Given the description of an element on the screen output the (x, y) to click on. 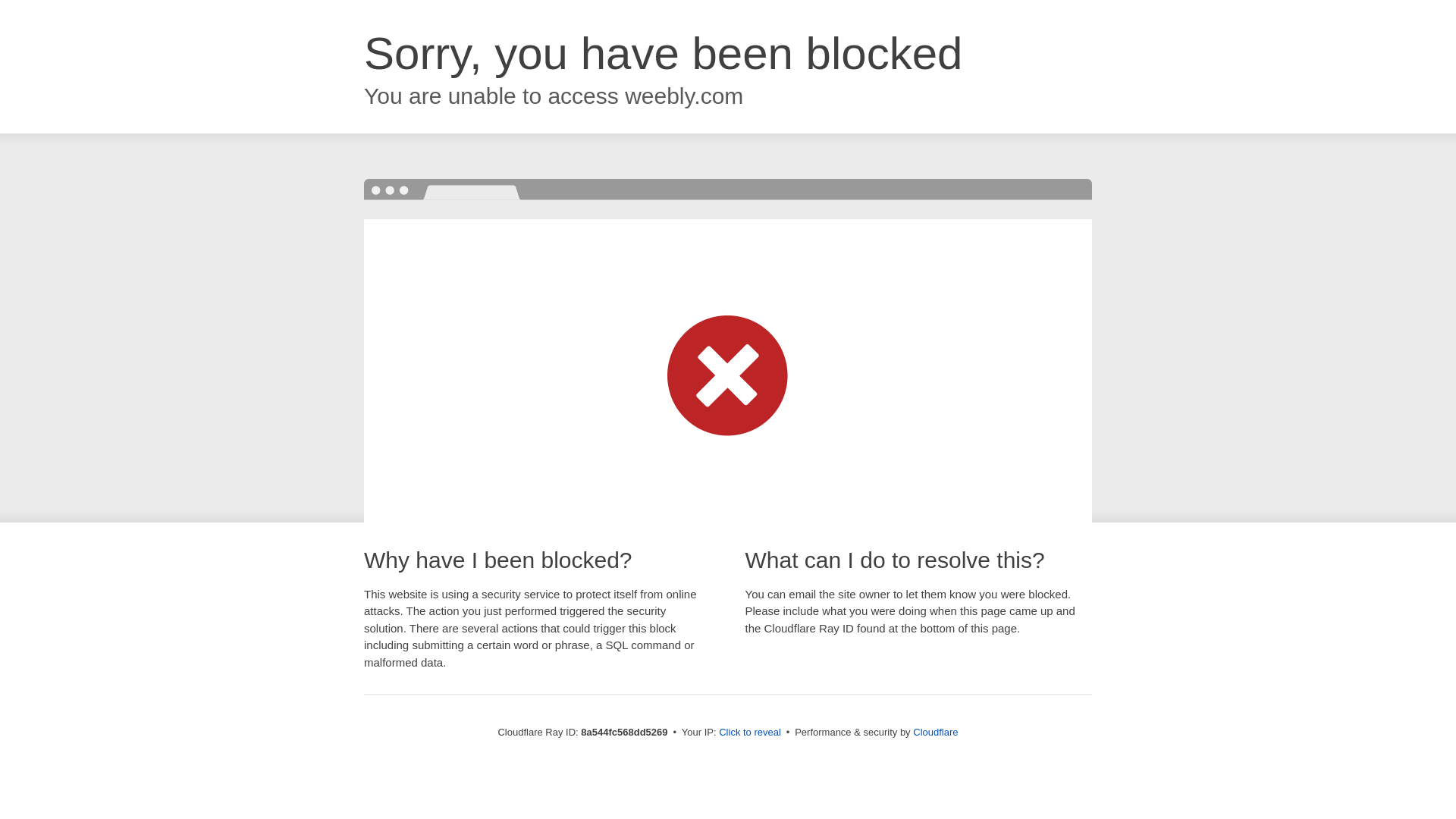
Cloudflare (935, 731)
Click to reveal (749, 732)
